Given the description of an element on the screen output the (x, y) to click on. 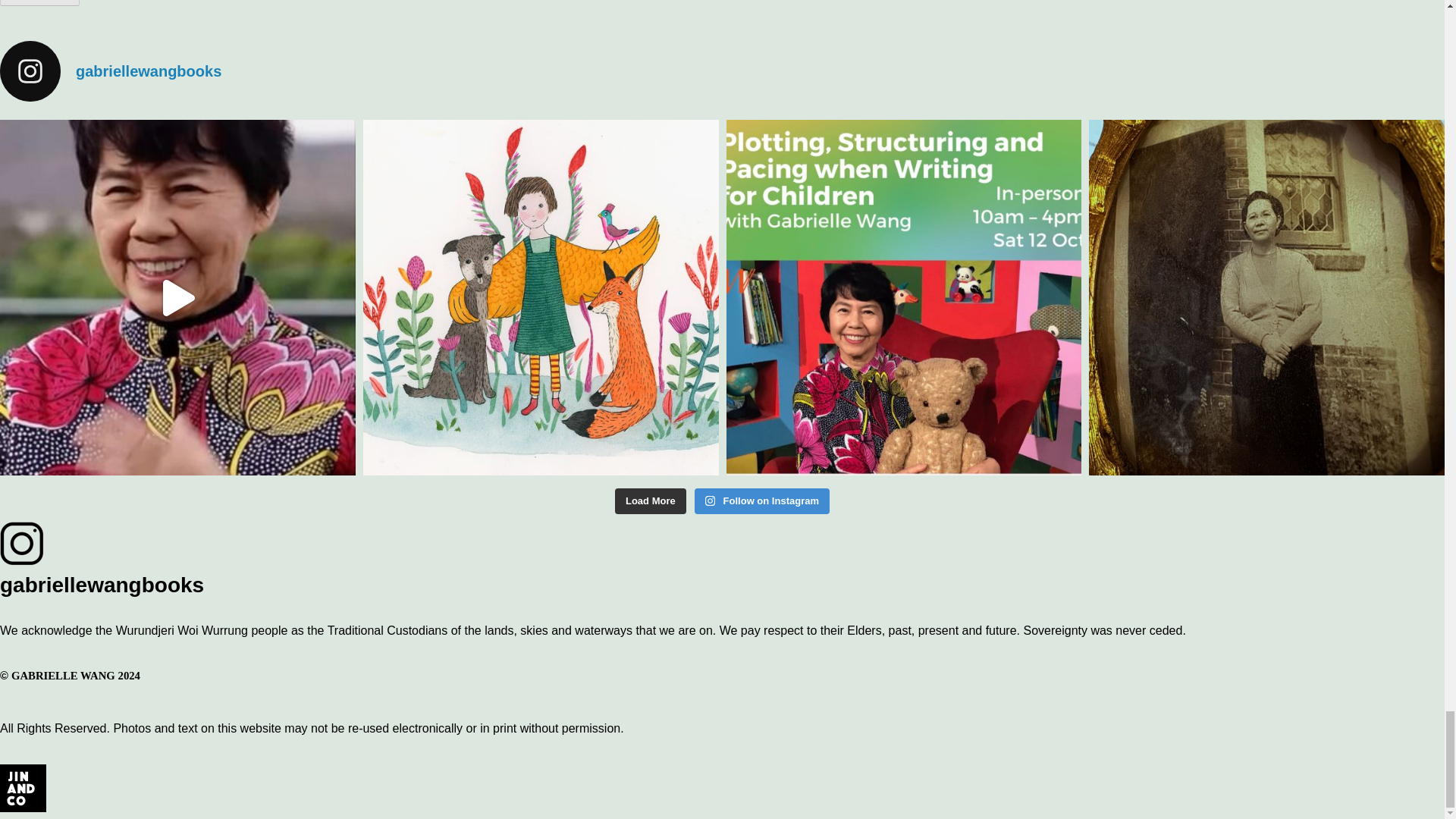
Post Comment (40, 2)
Post Comment (40, 2)
Load More (649, 501)
Follow on Instagram (761, 501)
